Given the description of an element on the screen output the (x, y) to click on. 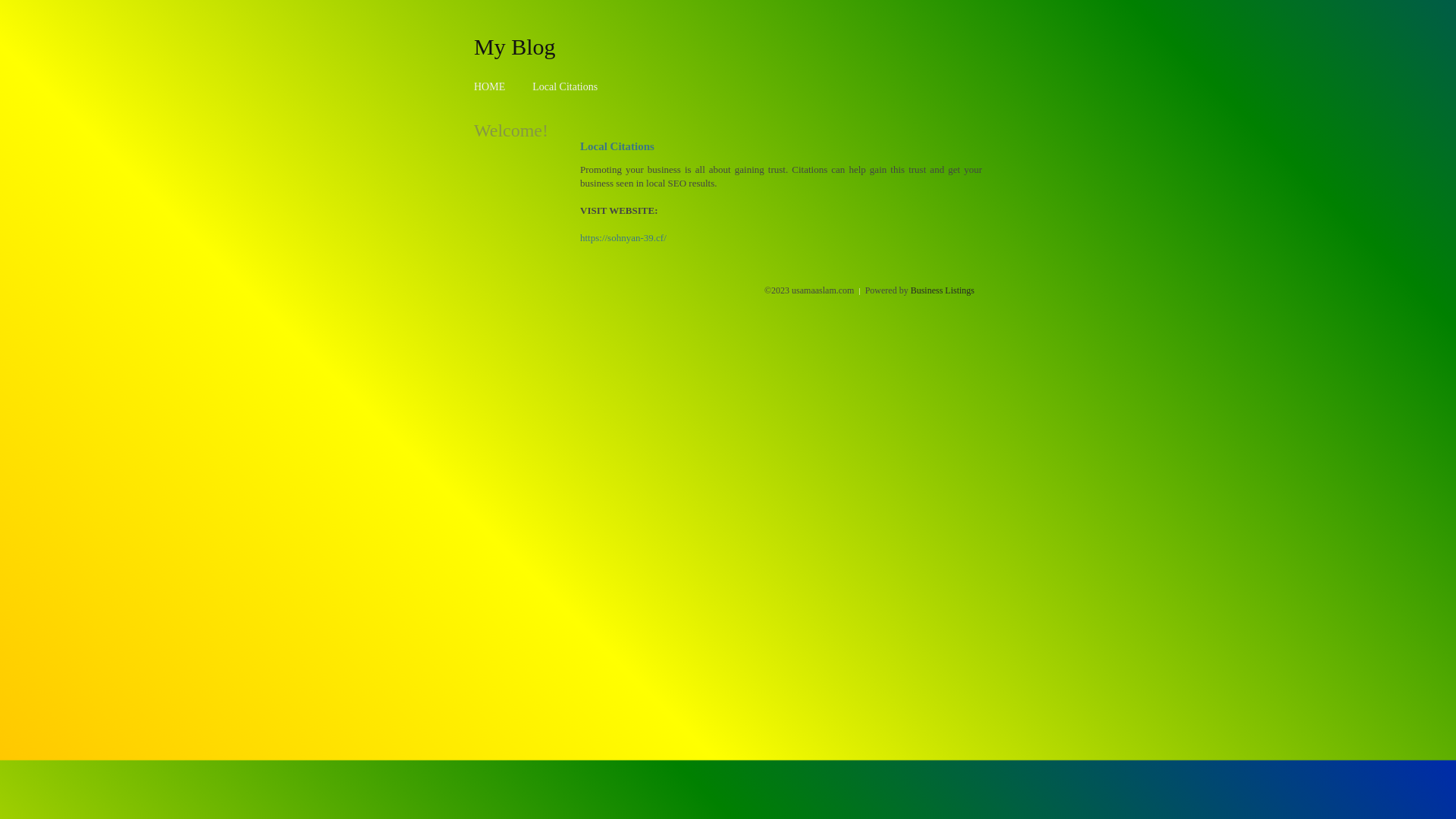
Business Listings Element type: text (942, 290)
My Blog Element type: text (514, 46)
HOME Element type: text (489, 86)
https://sohnyan-39.cf/ Element type: text (623, 237)
Local Citations Element type: text (564, 86)
